Given the description of an element on the screen output the (x, y) to click on. 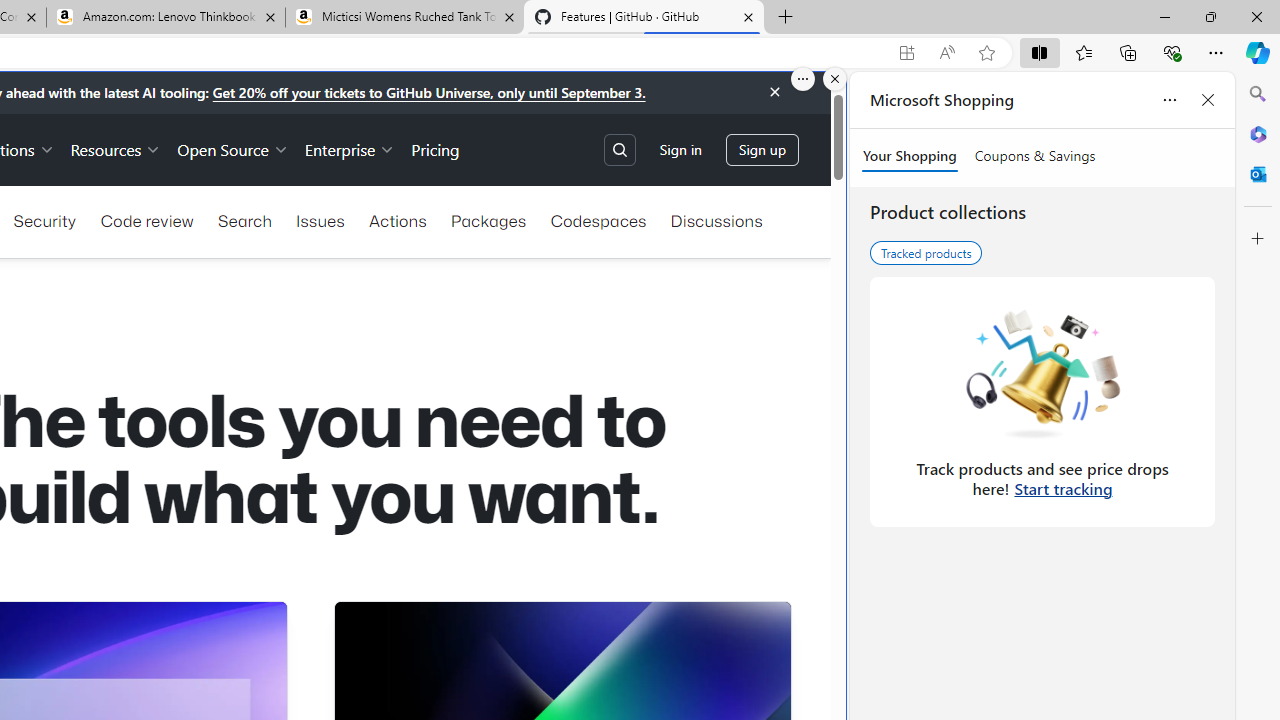
Outlook (1258, 174)
Open Source (232, 148)
Open Source (232, 148)
Codespaces (598, 220)
Issues (320, 220)
Packages (488, 220)
Discussions (715, 220)
Enterprise (349, 148)
